Given the description of an element on the screen output the (x, y) to click on. 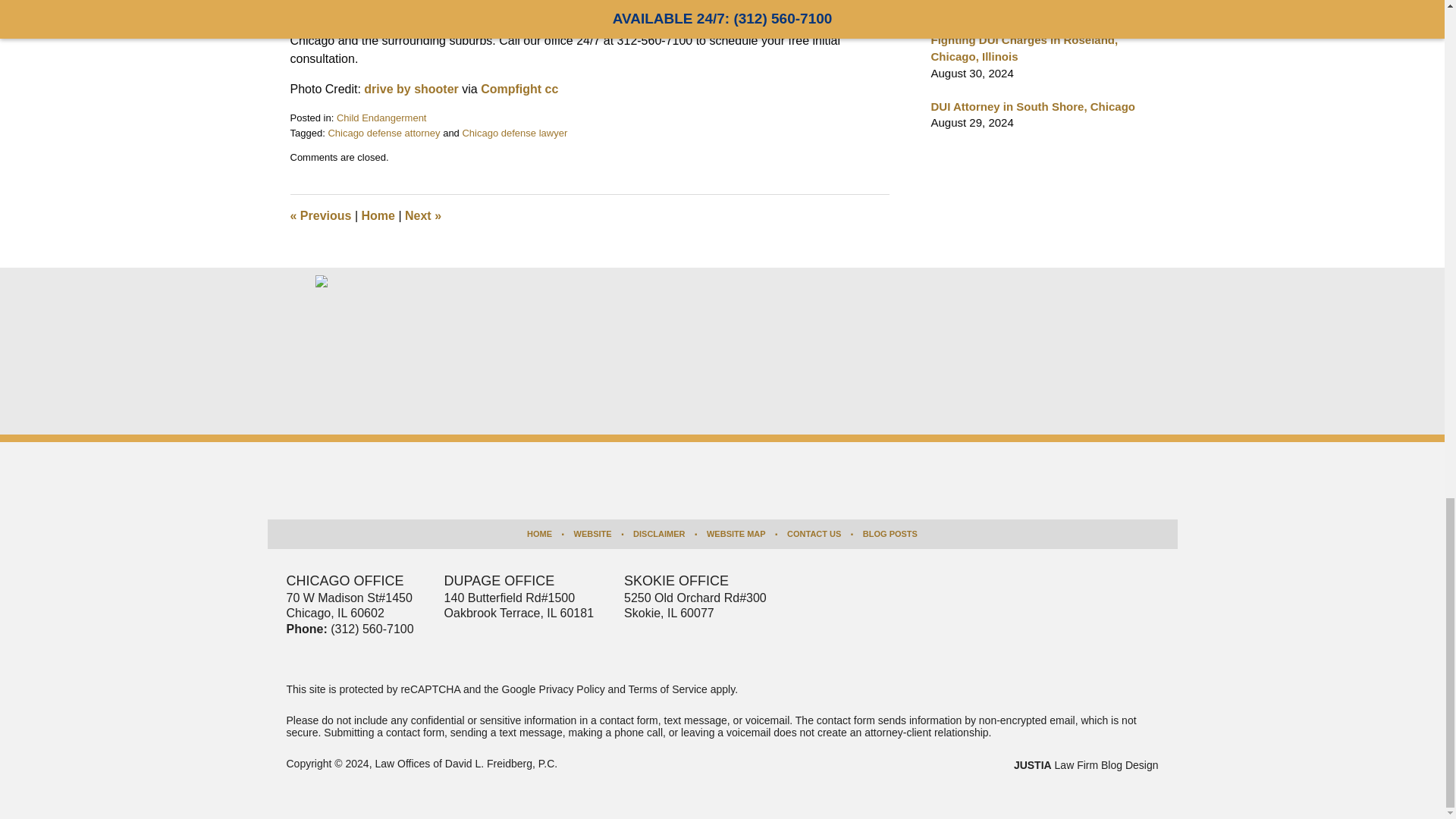
View all posts tagged with Chicago defense attorney (383, 132)
Chicago Woman Charged with Domestic Violence Murder (319, 215)
View all posts tagged with Chicago defense lawyer (514, 132)
Avvo Badge (559, 309)
Avvo Badge (645, 309)
View all posts in Child Endangerment (381, 117)
Avvo Badge (474, 309)
Residential Arson Charge for Fire Started in Own Home (422, 215)
